Given the description of an element on the screen output the (x, y) to click on. 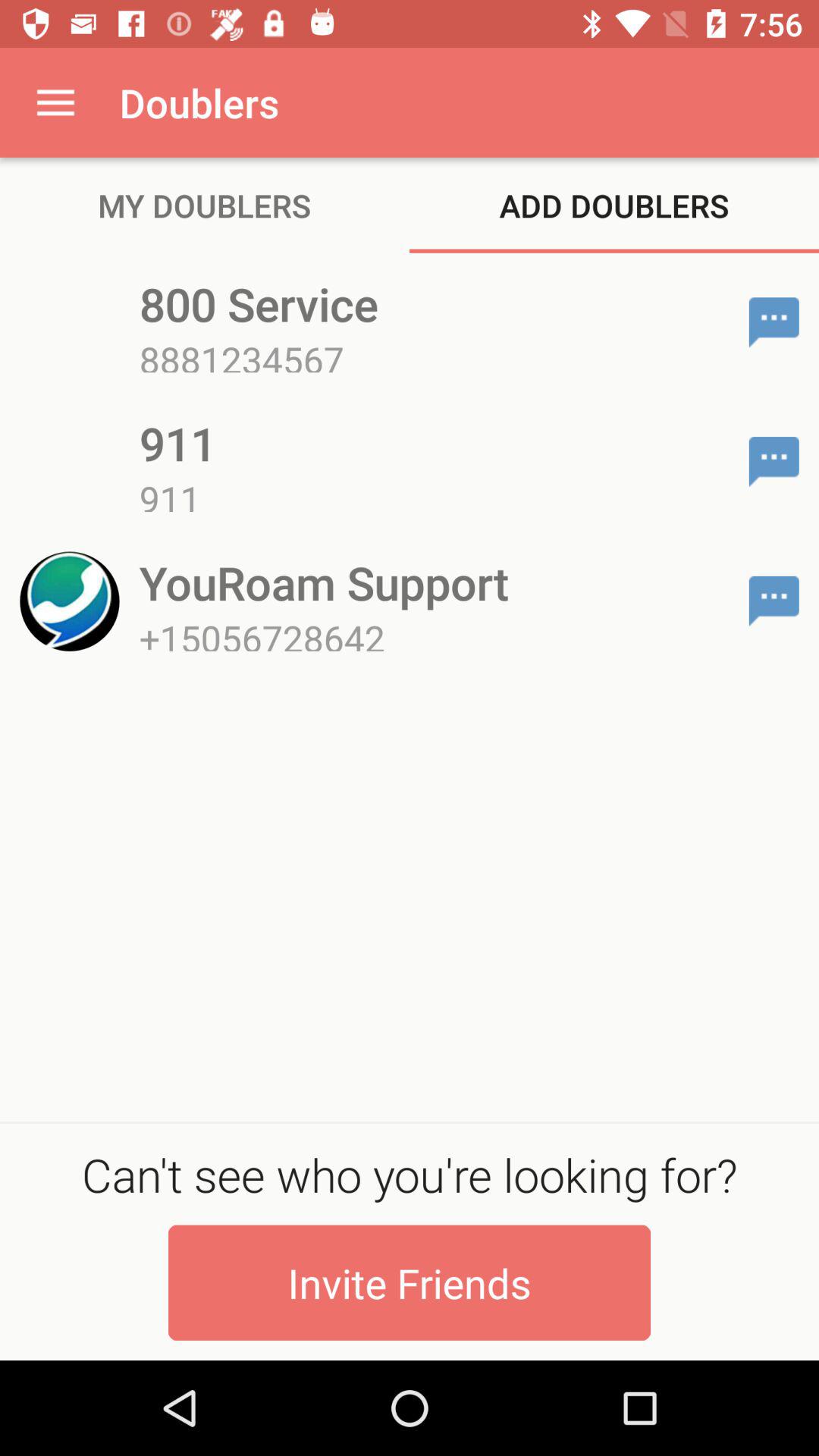
chat with contact (774, 461)
